Given the description of an element on the screen output the (x, y) to click on. 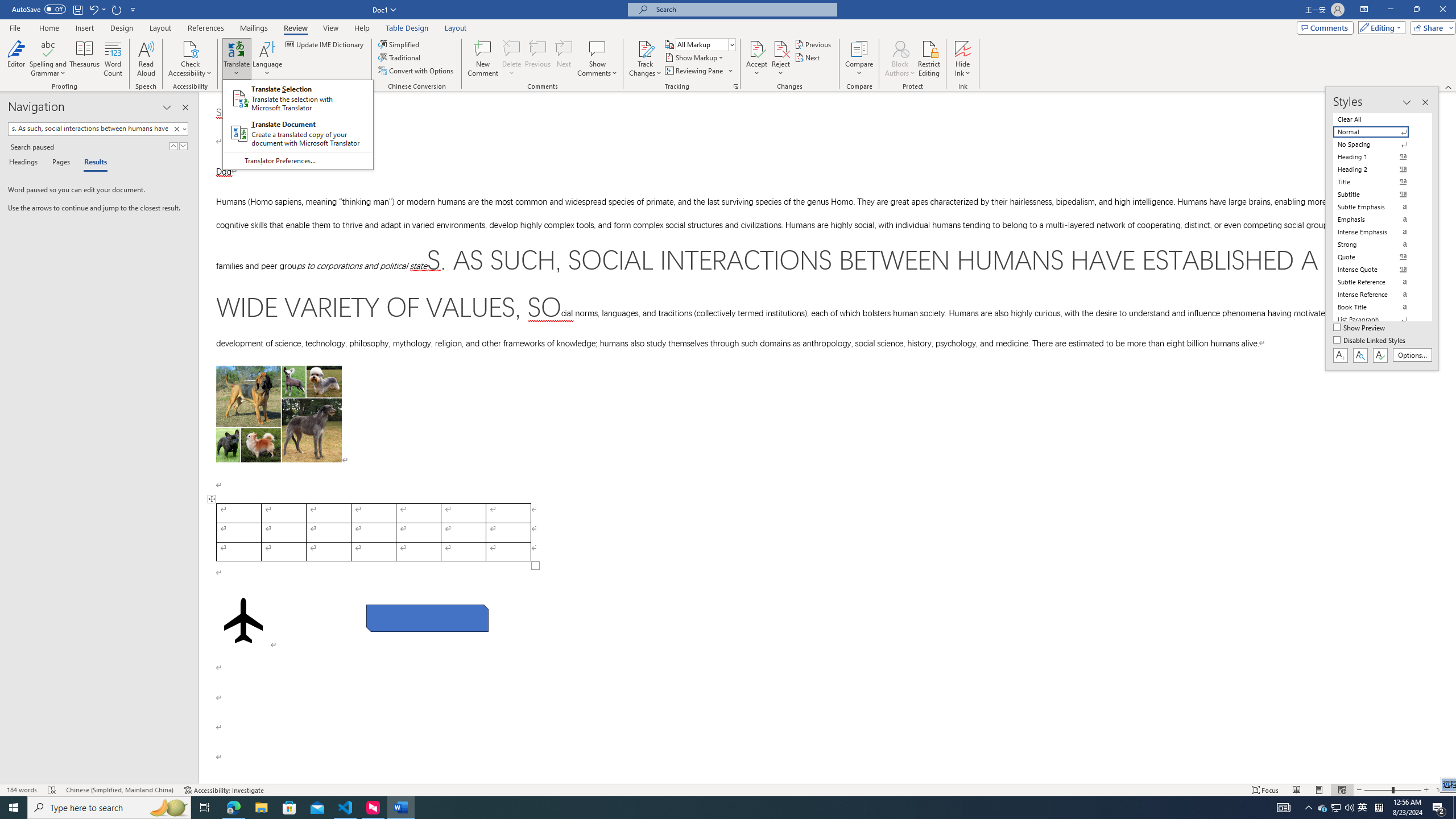
Morphological variation in six dogs (278, 414)
Editing (1379, 27)
Pages (59, 162)
Thesaurus... (84, 58)
Clear (176, 128)
Spelling and Grammar (48, 48)
Delete (511, 48)
Show Comments (597, 58)
Word Count (113, 58)
No Spacing (1377, 144)
Undo Style (92, 9)
